Given the description of an element on the screen output the (x, y) to click on. 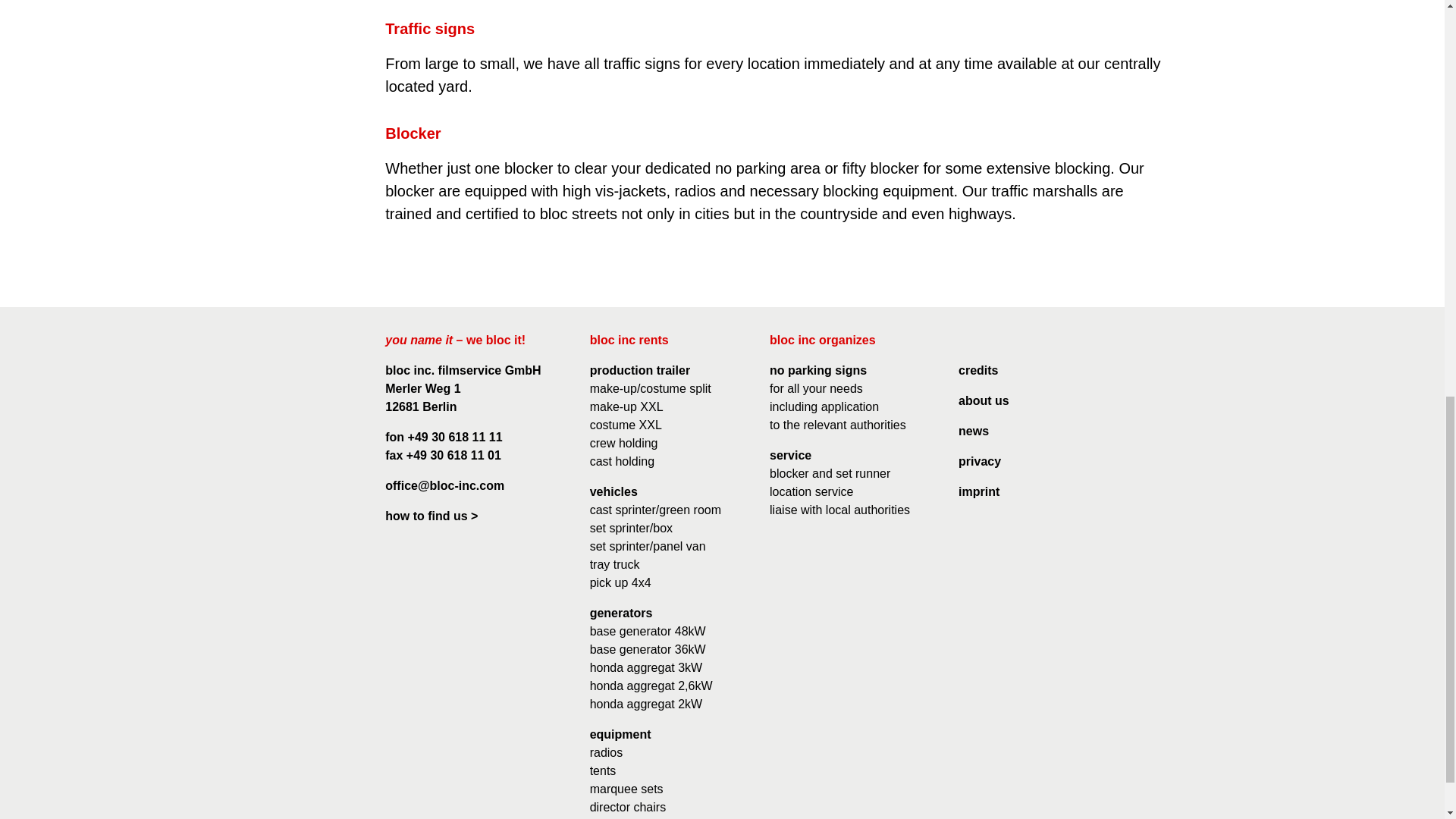
equipment (619, 734)
radios (606, 752)
pick up 4x4 (619, 582)
base generator 48kW (647, 631)
make-up XXL (626, 406)
crew holding (623, 442)
honda aggregat 2kW (646, 703)
generators (620, 612)
vehicles (613, 491)
production trailer (639, 369)
cast holding (621, 461)
base generator 36kW (647, 649)
honda aggregat 2,6kW (651, 685)
honda aggregat 3kW (646, 667)
costume XXL (625, 424)
